Given the description of an element on the screen output the (x, y) to click on. 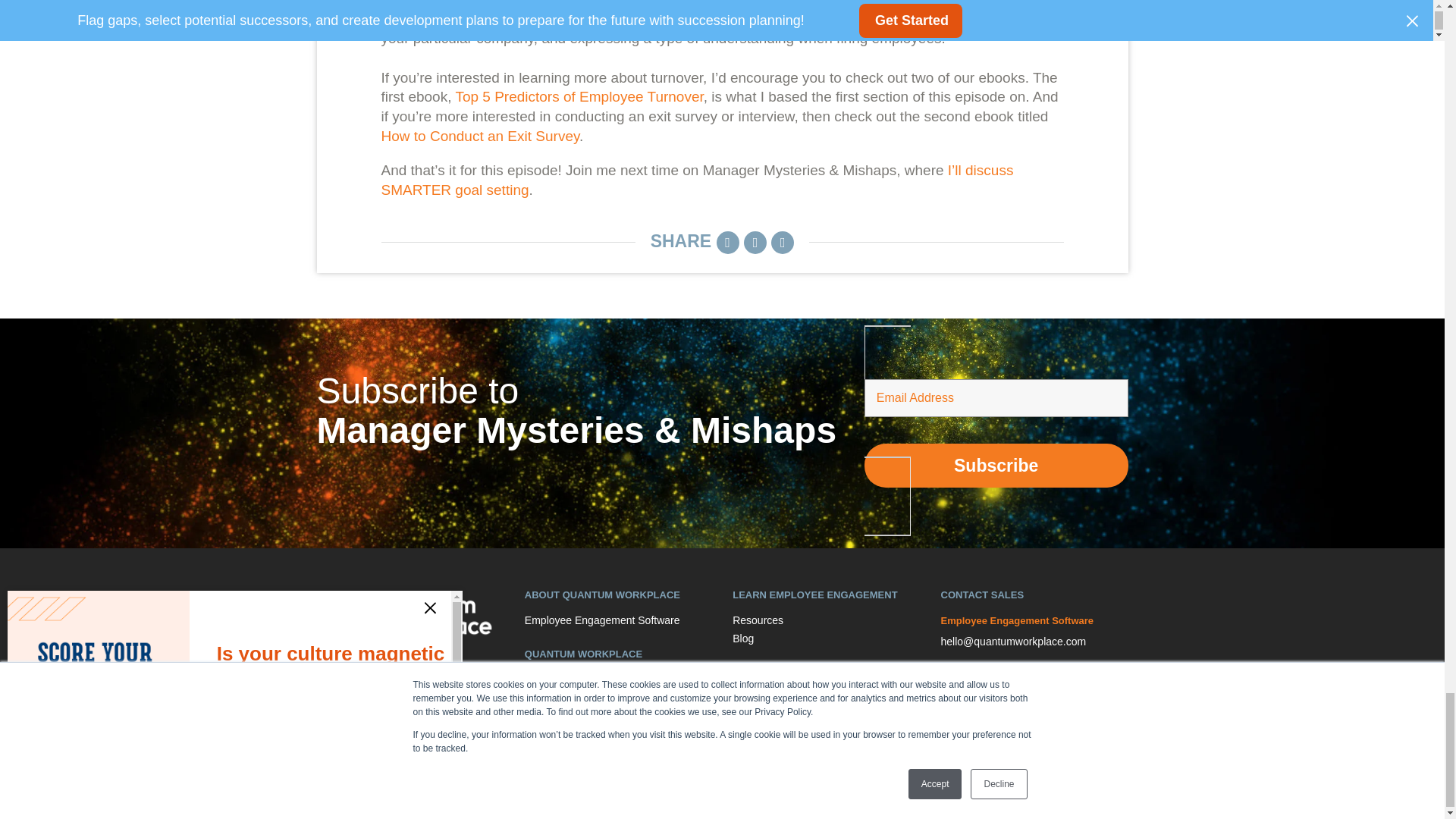
Share on LinkedIn (727, 241)
Share on Facebook (782, 241)
Tweet (755, 241)
Subscribe (996, 465)
